Given the description of an element on the screen output the (x, y) to click on. 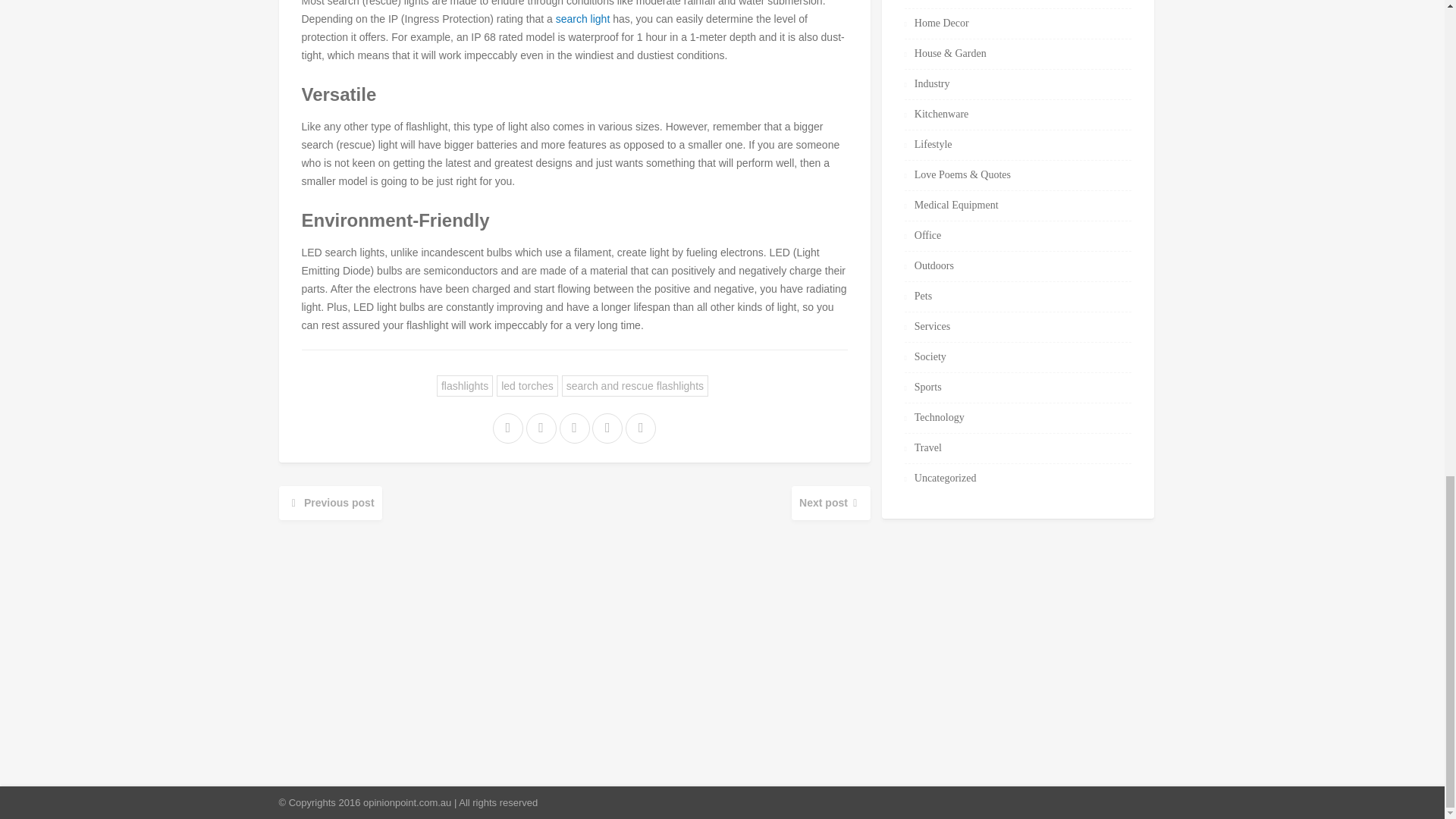
Share on Linkedin (607, 427)
search light (583, 19)
flashlights (464, 385)
search and rescue flashlights (634, 385)
Share on Facebook (506, 427)
Share on Twitter (573, 427)
led torches (526, 385)
